Given the description of an element on the screen output the (x, y) to click on. 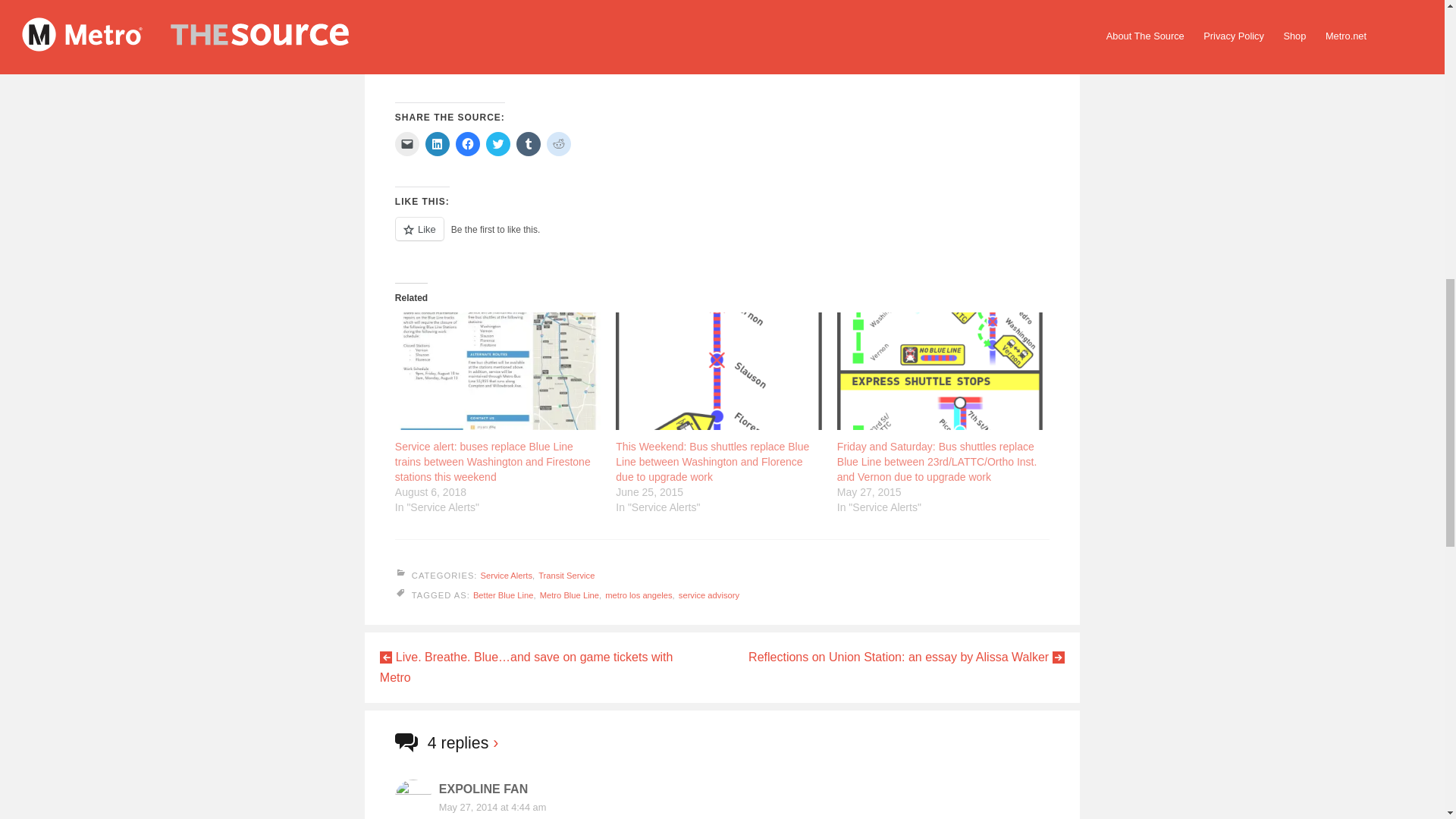
Click to share on LinkedIn (437, 143)
Click to share on Twitter (498, 143)
metro los angeles (638, 594)
Click to share on Facebook (467, 143)
Better Blue Line (503, 594)
Click to share on Reddit (558, 143)
Click to share on Tumblr (528, 143)
here (815, 14)
Blue Line Upgrades (954, 14)
Reflections on Union Station: an essay by Alissa Walker (906, 656)
service advisory (708, 594)
